Given the description of an element on the screen output the (x, y) to click on. 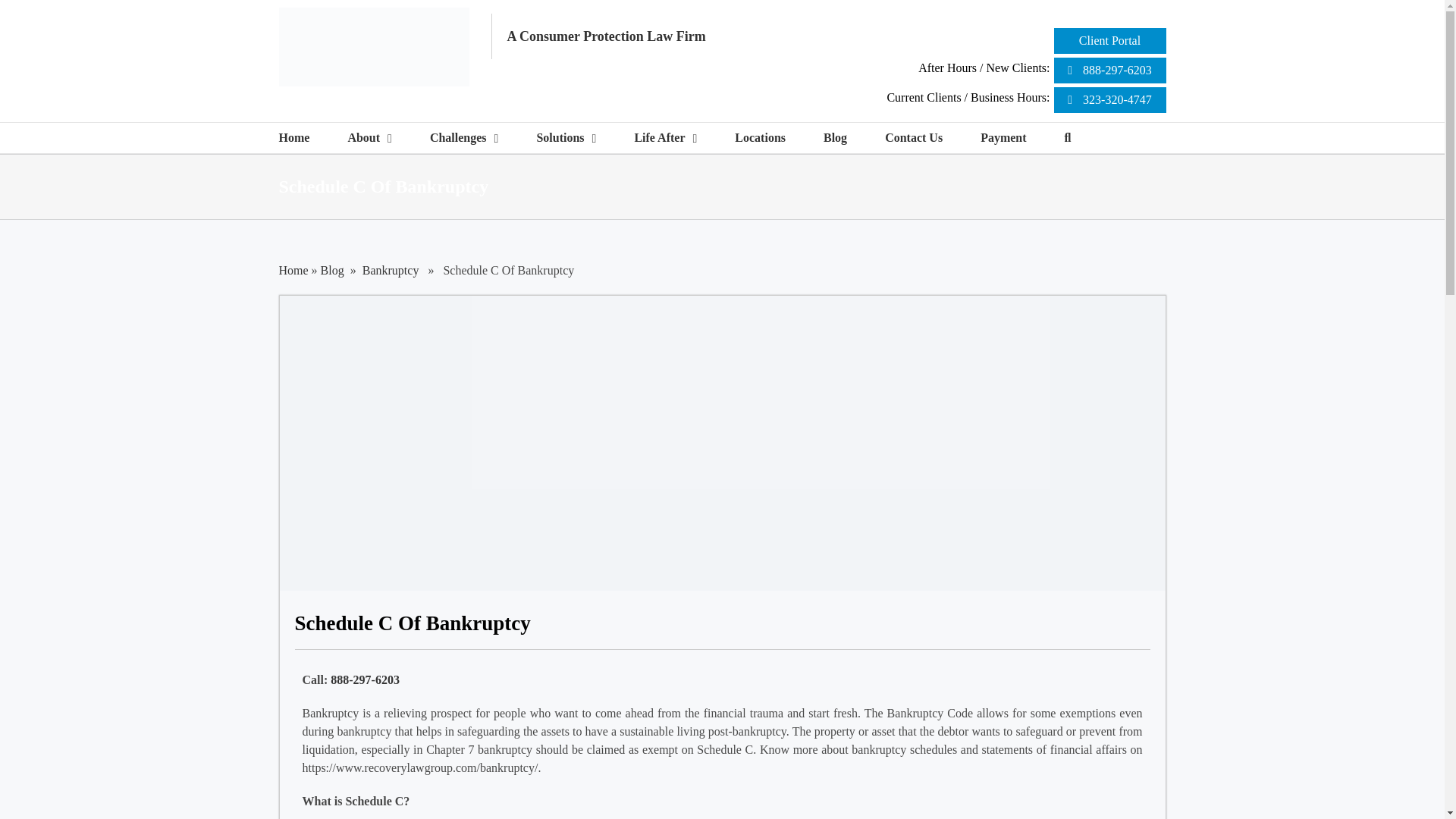
888-297-6203 (364, 679)
Life After (665, 137)
Blog (331, 269)
Home (293, 269)
About (369, 137)
Contact Us (913, 137)
Home (294, 137)
Client Portal (1110, 40)
Bankruptcy (390, 269)
Solutions (565, 137)
323-320-4747 (1110, 99)
Challenges (464, 137)
Locations (760, 137)
Payment (1002, 137)
888-297-6203 (1110, 70)
